Given the description of an element on the screen output the (x, y) to click on. 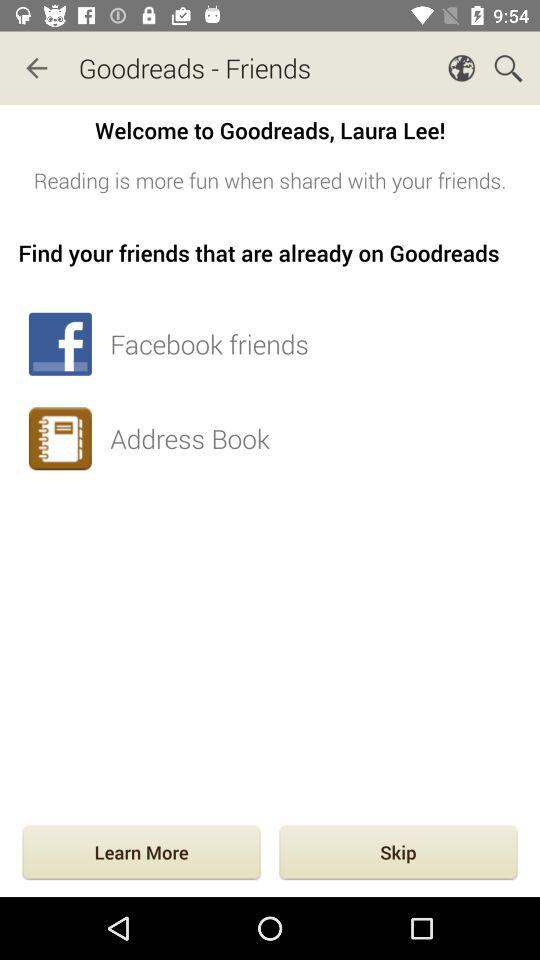
choose the learn more at the bottom left corner (141, 854)
